Given the description of an element on the screen output the (x, y) to click on. 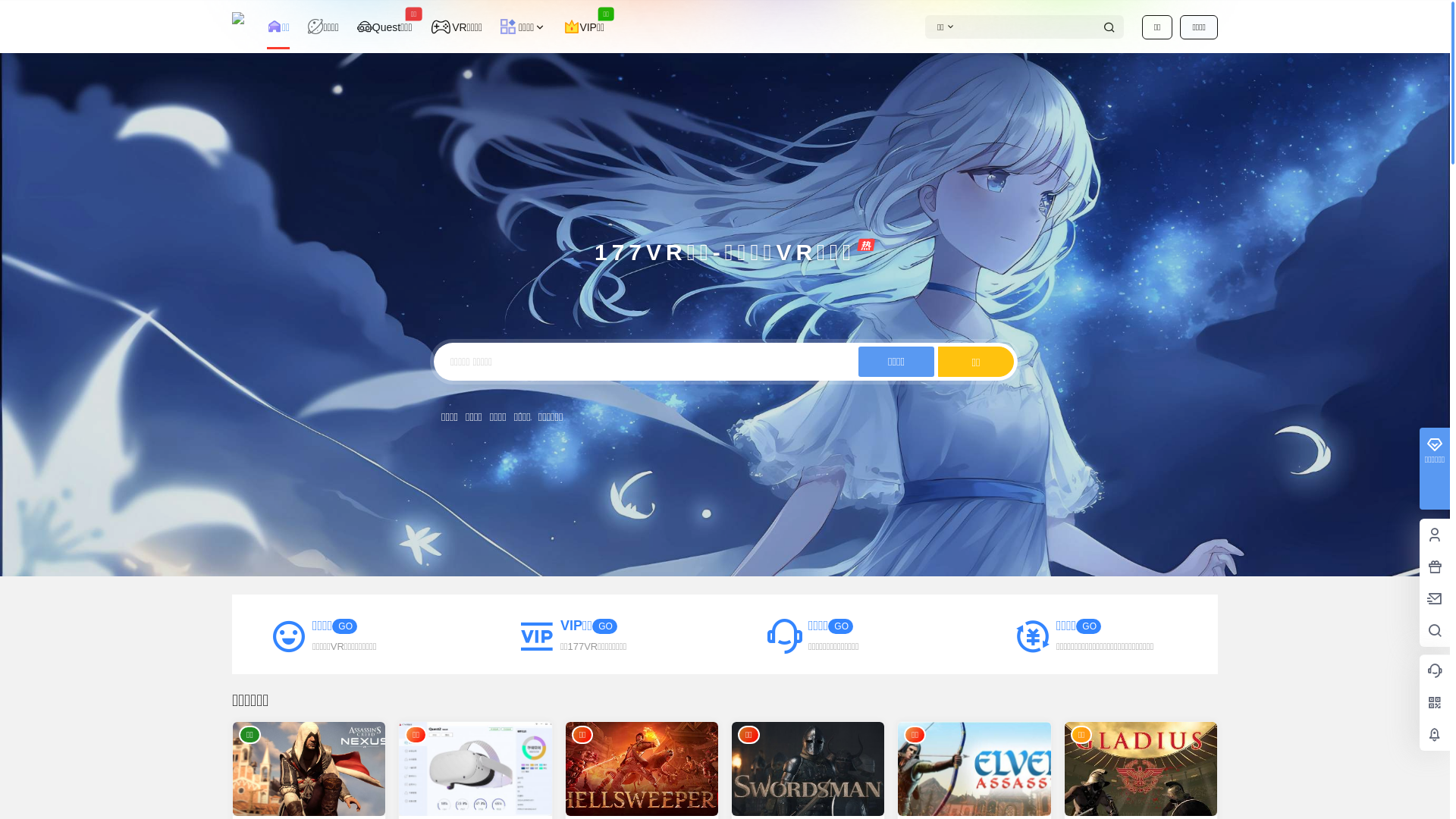
ok Element type: text (10, 10)
